Given the description of an element on the screen output the (x, y) to click on. 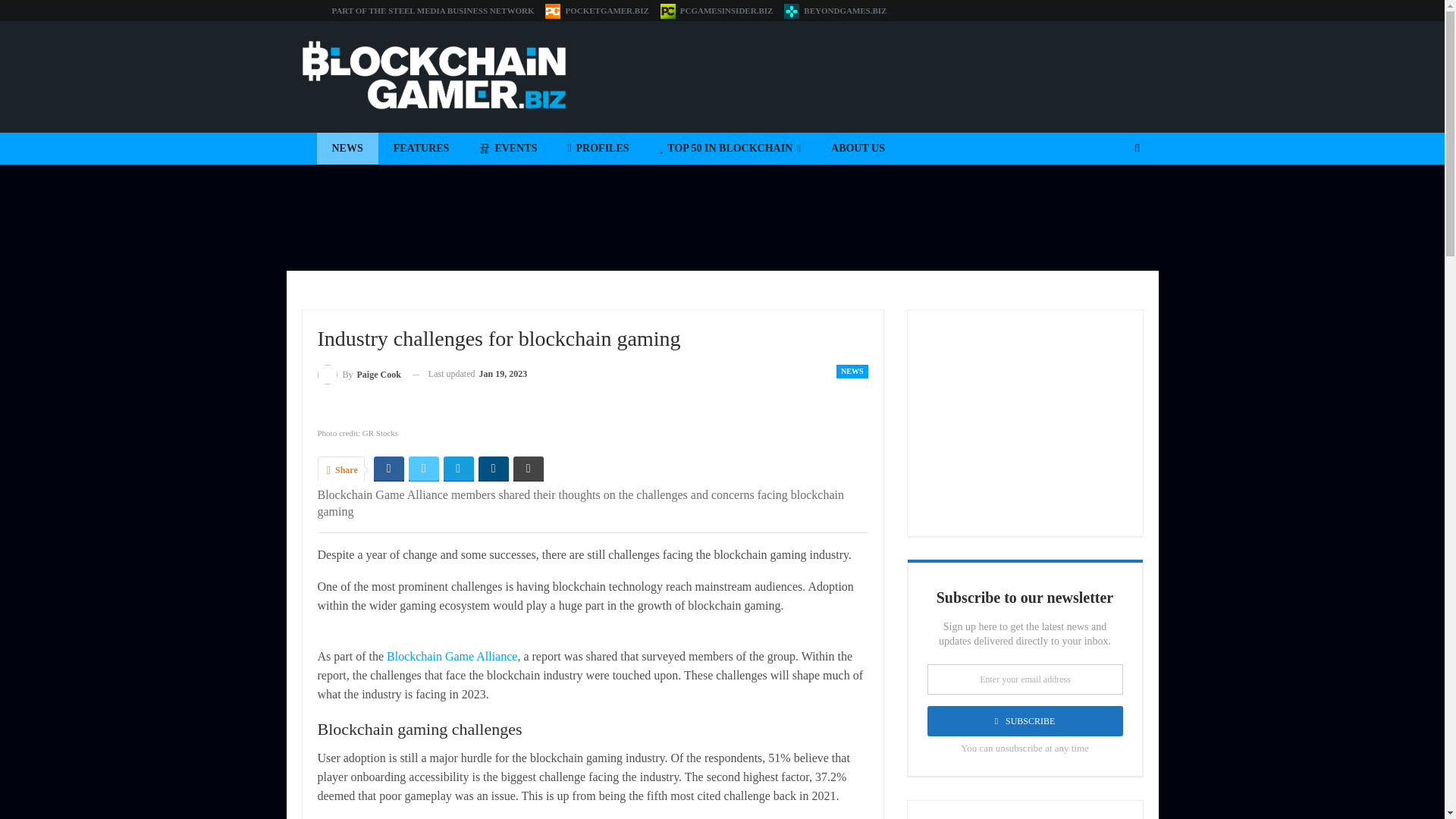
By Paige Cook (358, 373)
PCGAMESINSIDER.BIZ (717, 10)
BEYONDGAMES.BIZ (835, 10)
Browse Author Articles (358, 373)
NEWS (347, 148)
PART OF THE STEEL MEDIA BUSINESS NETWORK (432, 10)
ABOUT US (857, 148)
TOP 50 IN BLOCKCHAIN (730, 148)
POCKETGAMER.BIZ (595, 10)
FEATURES (421, 148)
Blockchain Game Alliance (451, 656)
EVENTS (507, 148)
PROFILES (597, 148)
NEWS (851, 371)
